Given the description of an element on the screen output the (x, y) to click on. 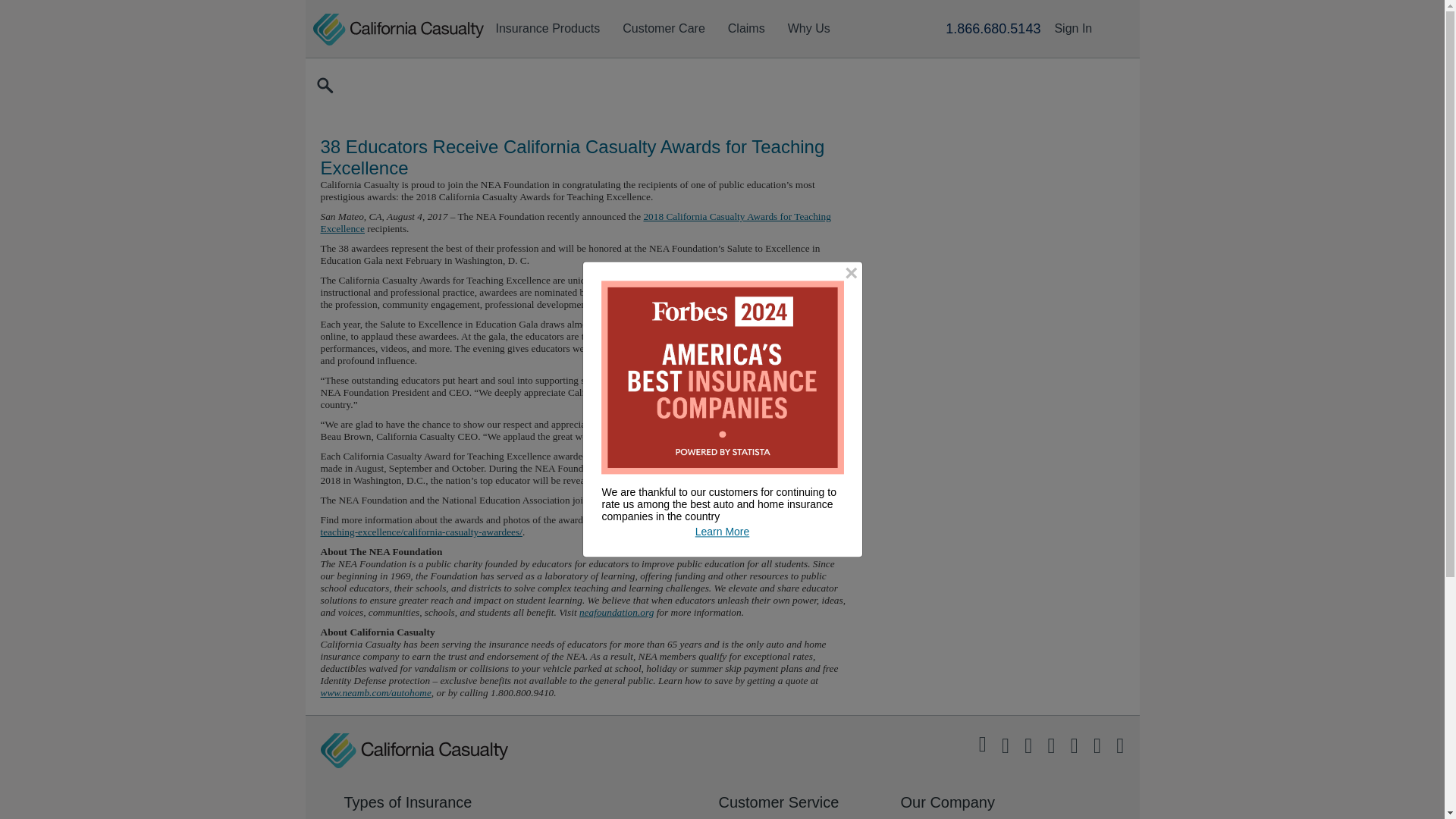
Claims (746, 29)
Insurance Products (547, 29)
California Casualty (413, 750)
Customer Care (663, 29)
Why Us (808, 29)
